Given the description of an element on the screen output the (x, y) to click on. 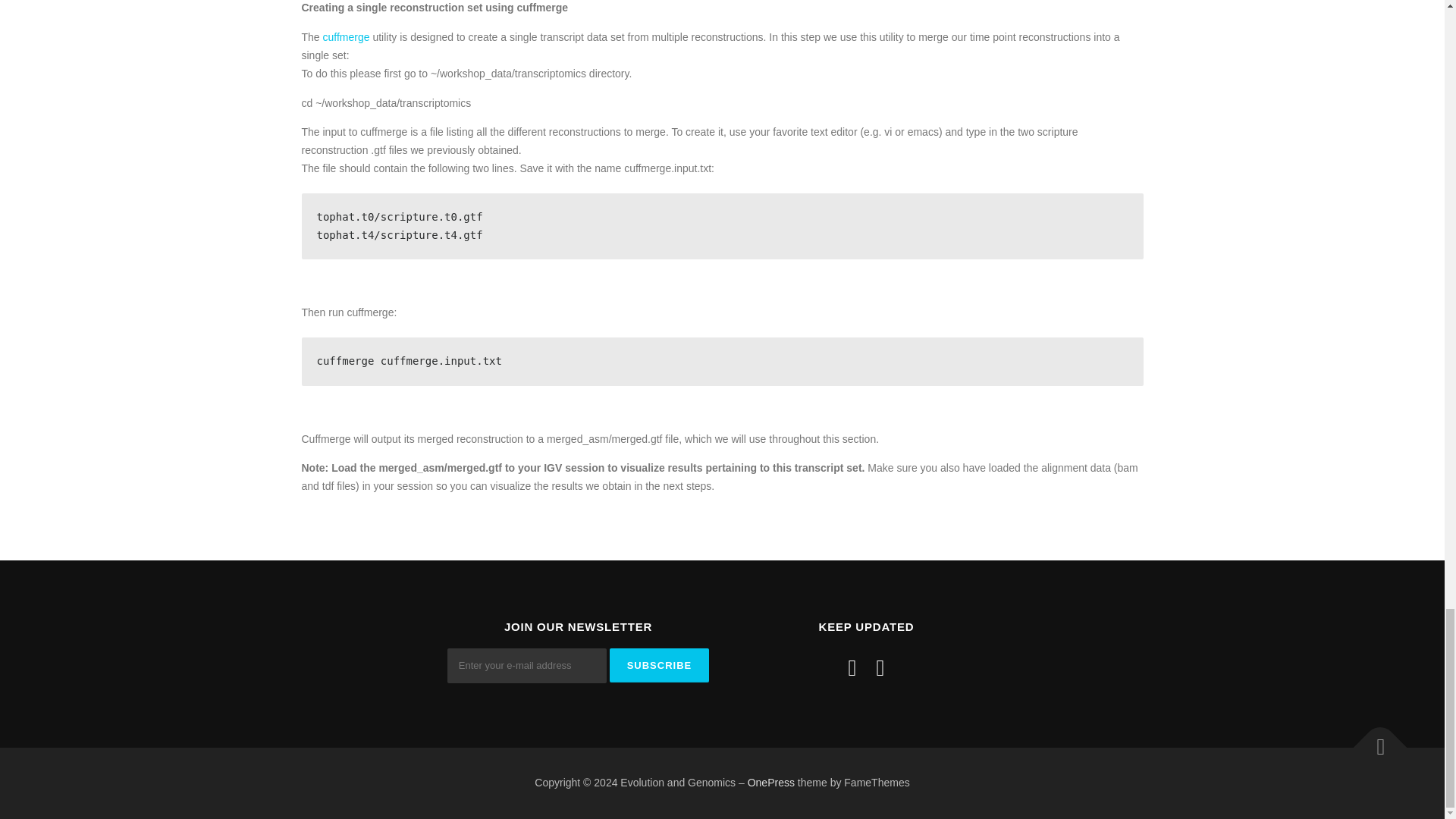
Back To Top (1372, 740)
Subscribe (660, 665)
